Given the description of an element on the screen output the (x, y) to click on. 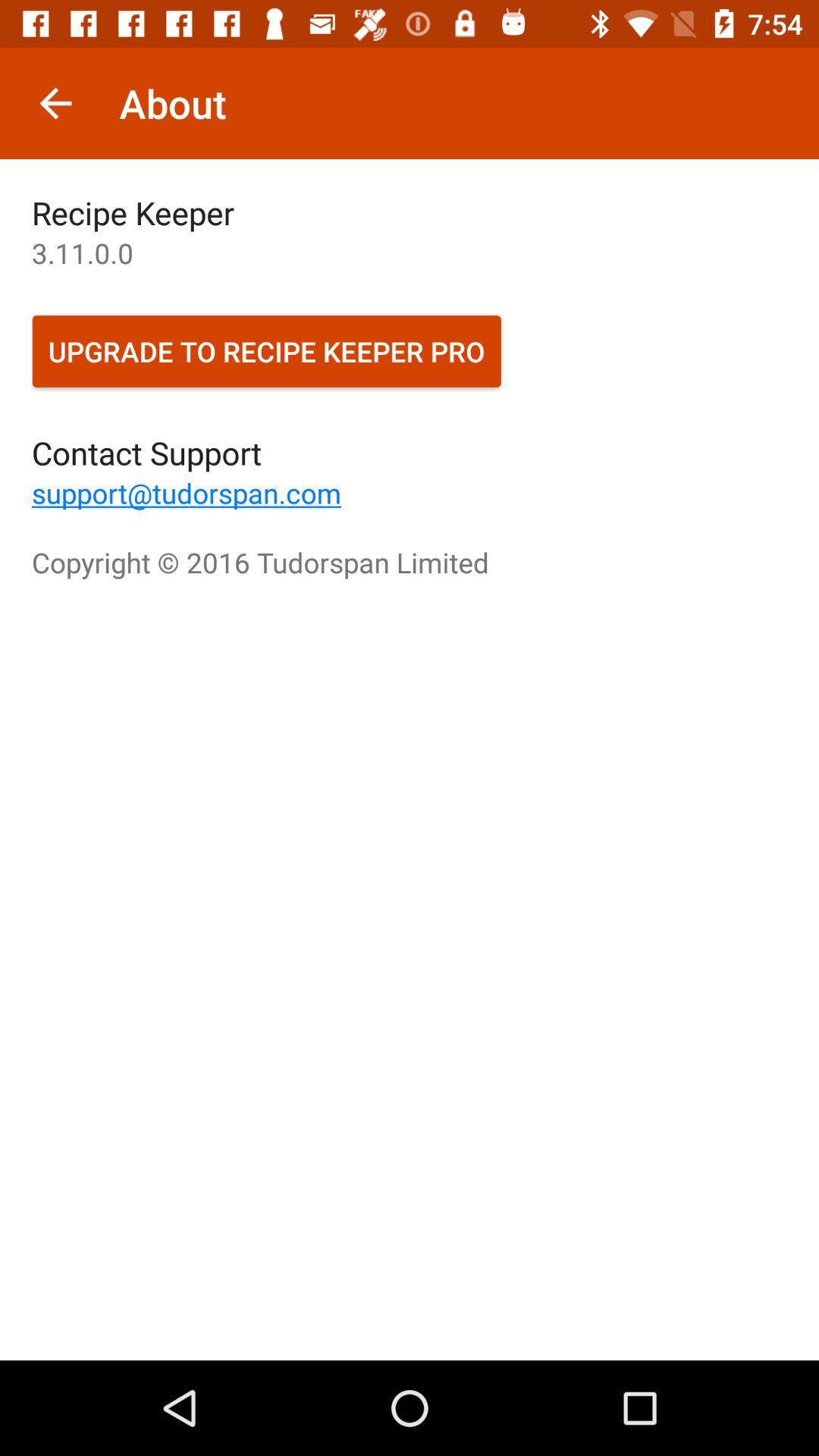
choose the item below the 3 11 0 icon (266, 351)
